Given the description of an element on the screen output the (x, y) to click on. 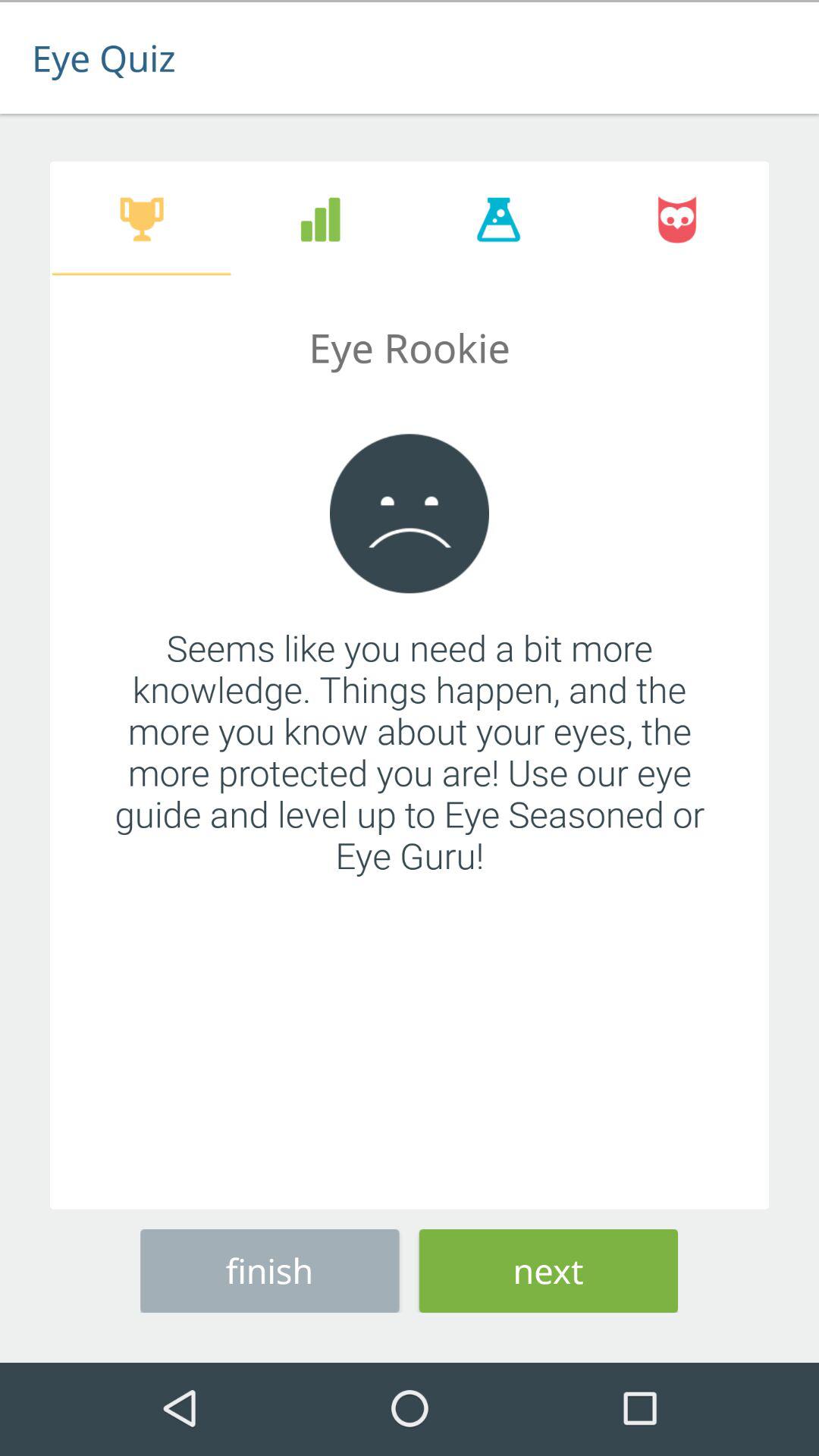
click button next to next icon (269, 1268)
